Given the description of an element on the screen output the (x, y) to click on. 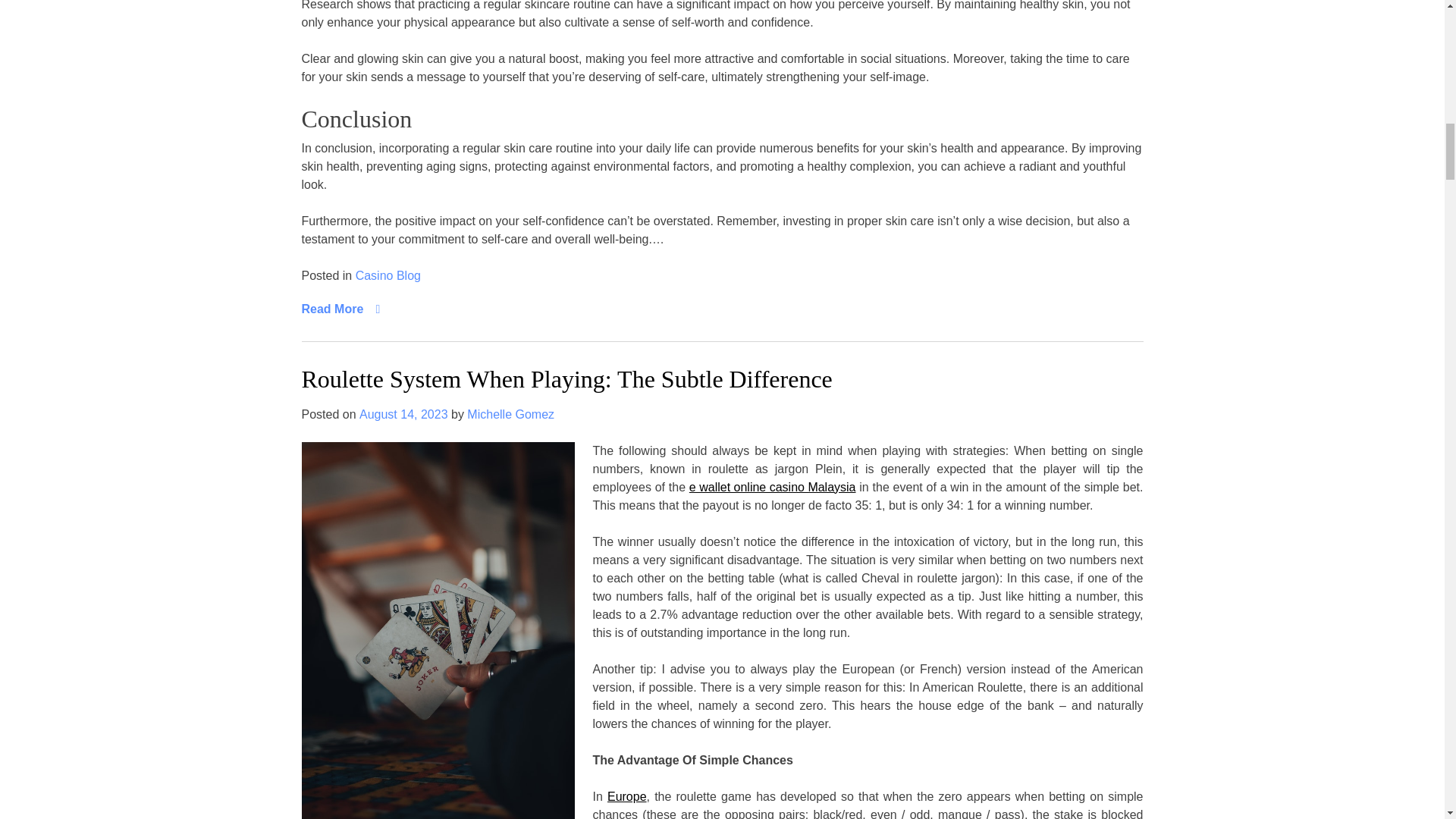
Roulette System When Playing: The Subtle Difference (566, 378)
August 14, 2023 (403, 414)
Casino Blog (387, 275)
Michelle Gomez (510, 414)
e wallet online casino Malaysia (772, 487)
Read More (340, 309)
Europe (626, 796)
